Given the description of an element on the screen output the (x, y) to click on. 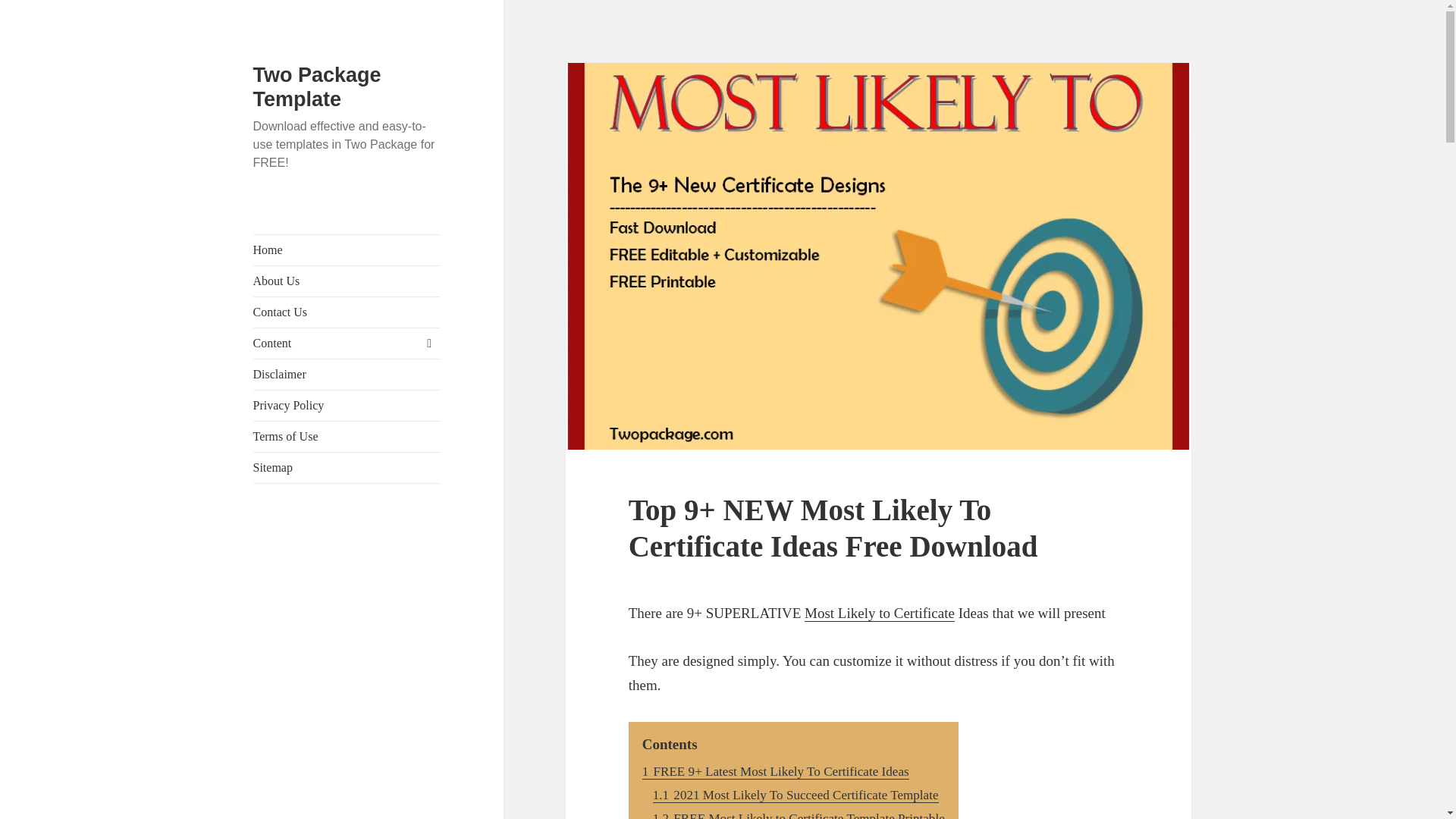
Contact Us (347, 312)
expand child menu (428, 343)
Most Likely to Certificate (880, 613)
1.2 FREE Most Likely to Certificate Template Printable (798, 815)
Terms of Use (347, 436)
Disclaimer (347, 374)
Home (347, 250)
Privacy Policy (347, 405)
About Us (347, 281)
Sitemap (347, 467)
